Given the description of an element on the screen output the (x, y) to click on. 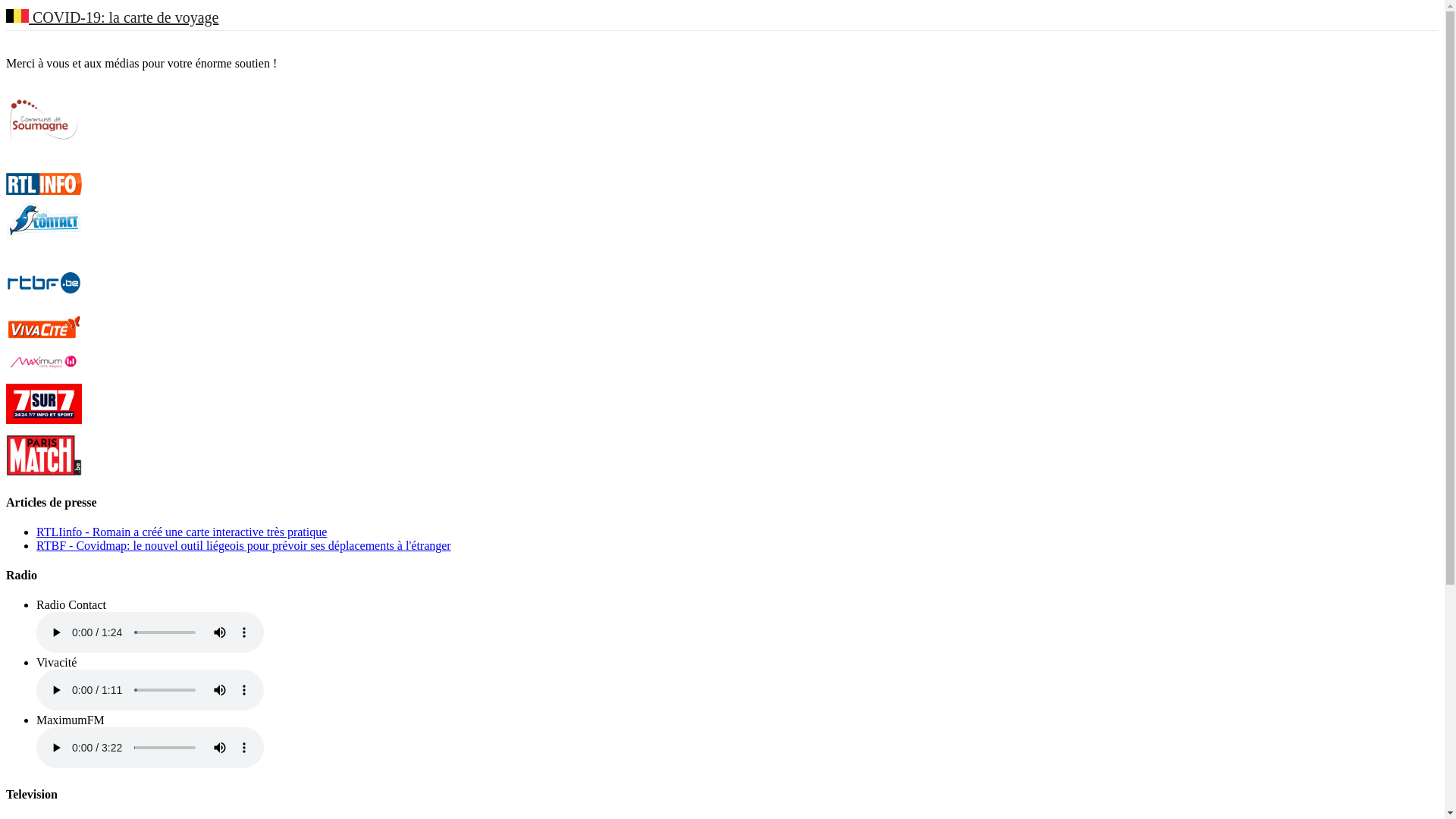
COVID-19: la carte de voyage Element type: text (112, 17)
